Given the description of an element on the screen output the (x, y) to click on. 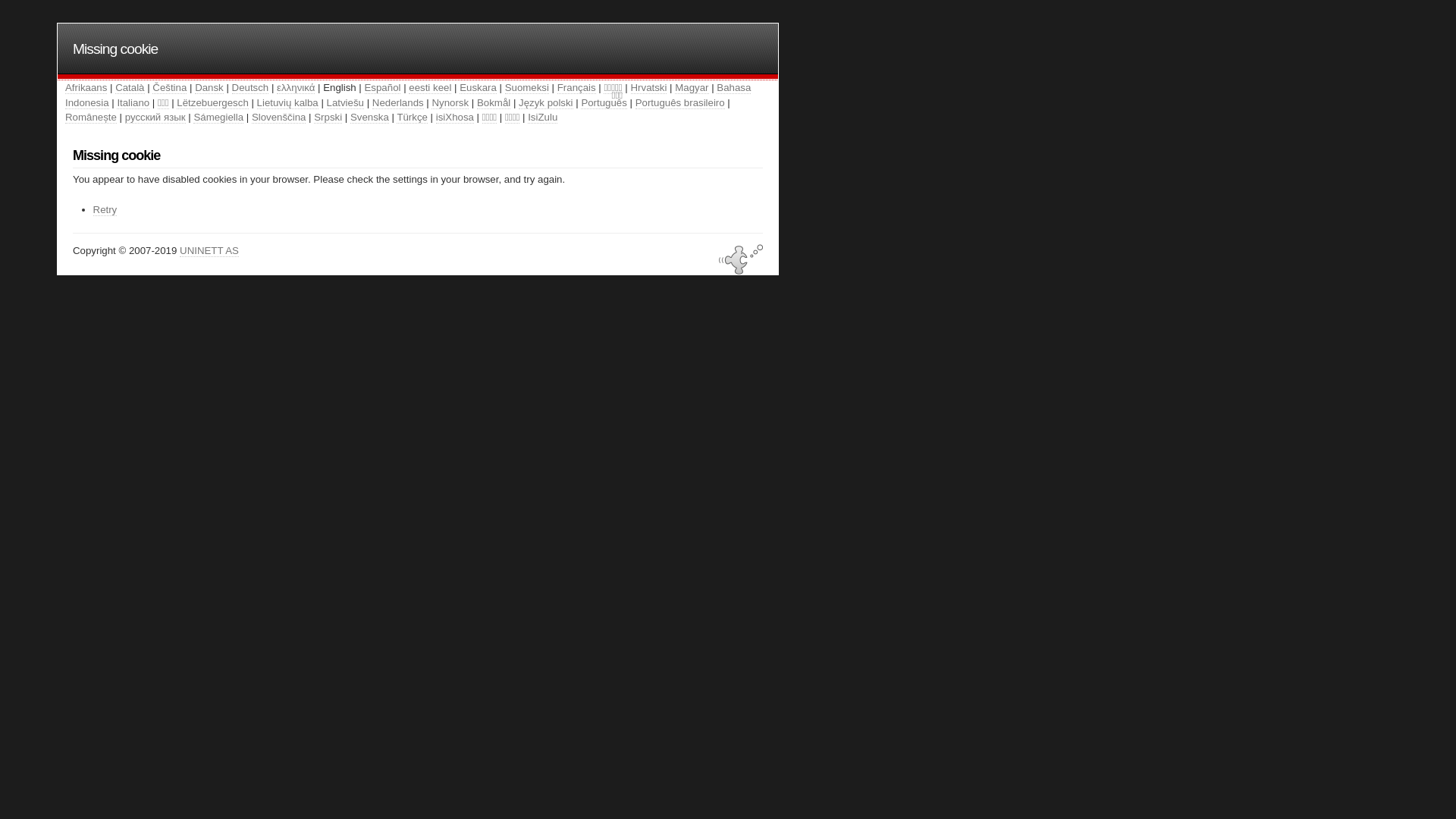
Deutsch Element type: text (250, 87)
Hrvatski Element type: text (648, 87)
Missing cookie Element type: text (114, 48)
Nederlands Element type: text (397, 103)
Dansk Element type: text (208, 87)
Euskara Element type: text (477, 87)
Magyar Element type: text (691, 87)
UNINETT AS Element type: text (208, 250)
eesti keel Element type: text (429, 87)
Srpski Element type: text (327, 117)
Afrikaans Element type: text (85, 87)
Nynorsk Element type: text (449, 103)
Suomeksi Element type: text (527, 87)
Svenska Element type: text (369, 117)
Bahasa Indonesia Element type: text (407, 95)
Retry Element type: text (105, 209)
Italiano Element type: text (132, 103)
IsiZulu Element type: text (542, 117)
isiXhosa Element type: text (454, 117)
